Given the description of an element on the screen output the (x, y) to click on. 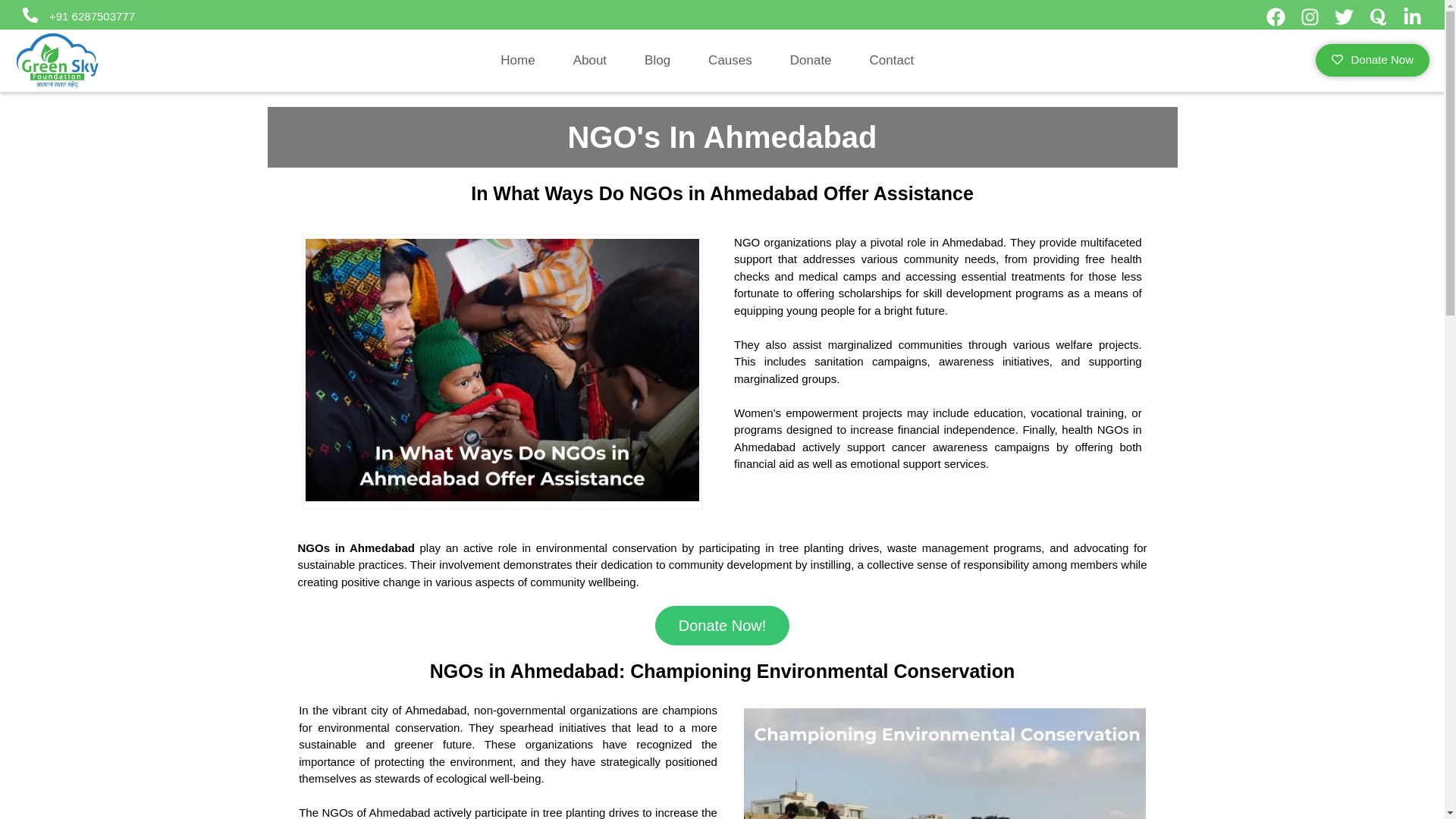
Donate Now (1372, 60)
NGOs in Ahmedabad (355, 547)
Donate (810, 60)
Blog (656, 60)
Home (517, 60)
About (589, 60)
Causes (730, 60)
Contact (892, 60)
Donate Now! (722, 625)
